Given the description of an element on the screen output the (x, y) to click on. 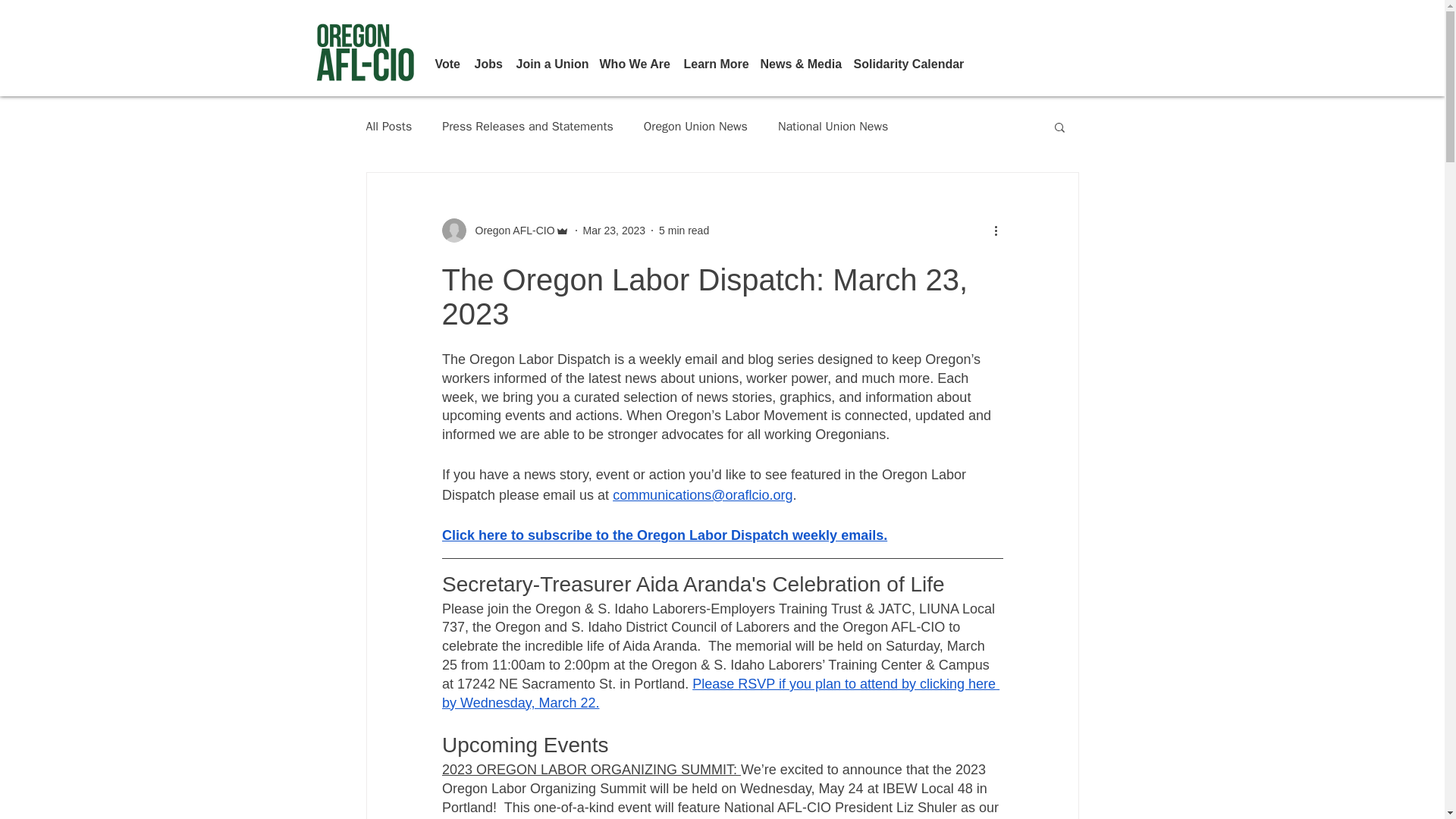
National Union News (832, 125)
Mar 23, 2023 (614, 230)
Oregon AFL-CIO (509, 230)
Solidarity Calendar (903, 63)
Press Releases and Statements (527, 125)
Join a Union (549, 63)
Oregon Union News (695, 125)
Oregon AFL-CIO (505, 230)
Jobs (487, 63)
5 min read (684, 230)
Vote (447, 63)
All Posts (388, 125)
